Given the description of an element on the screen output the (x, y) to click on. 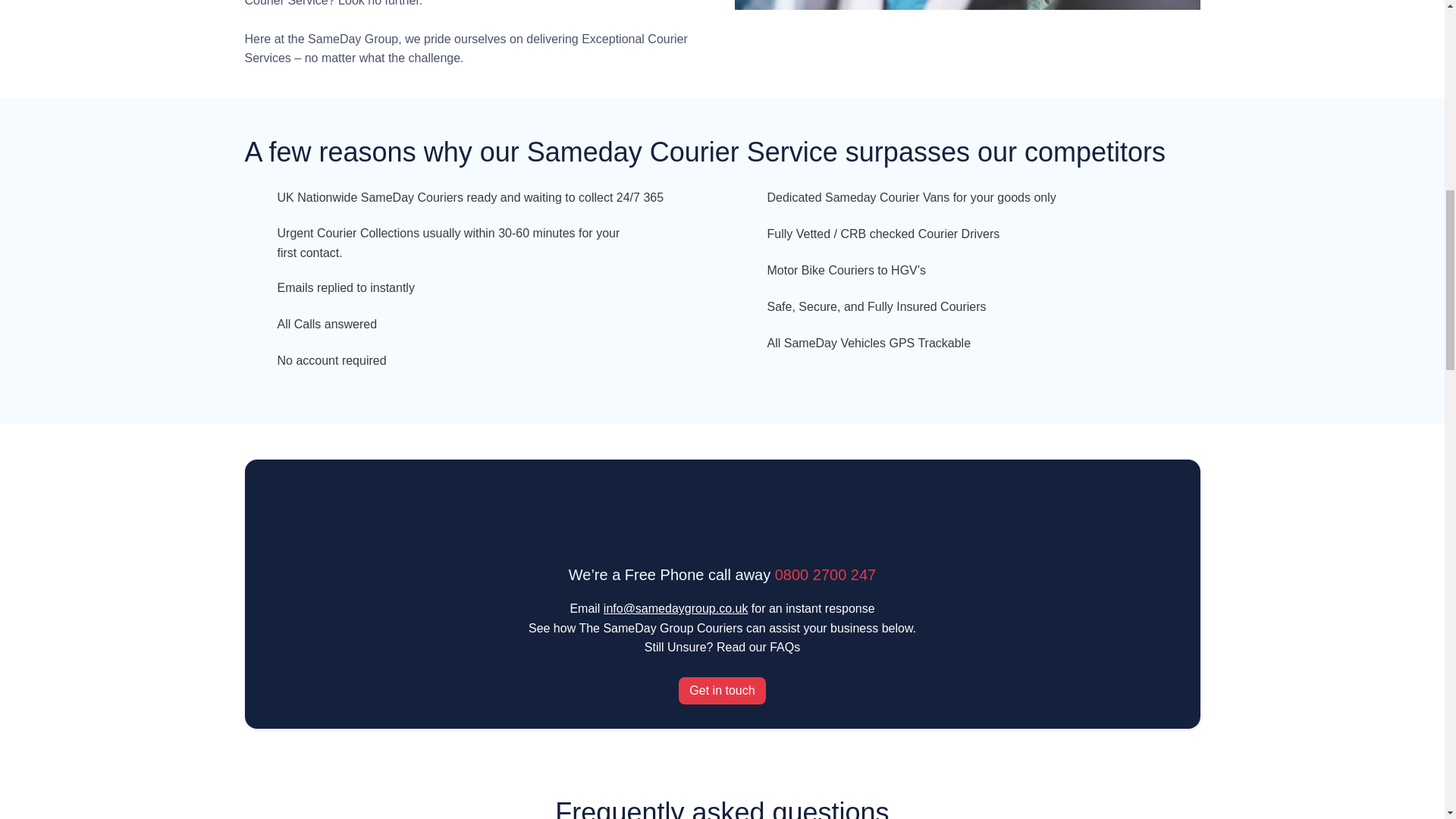
0800 2700 247 (825, 574)
Get in touch (721, 690)
